Given the description of an element on the screen output the (x, y) to click on. 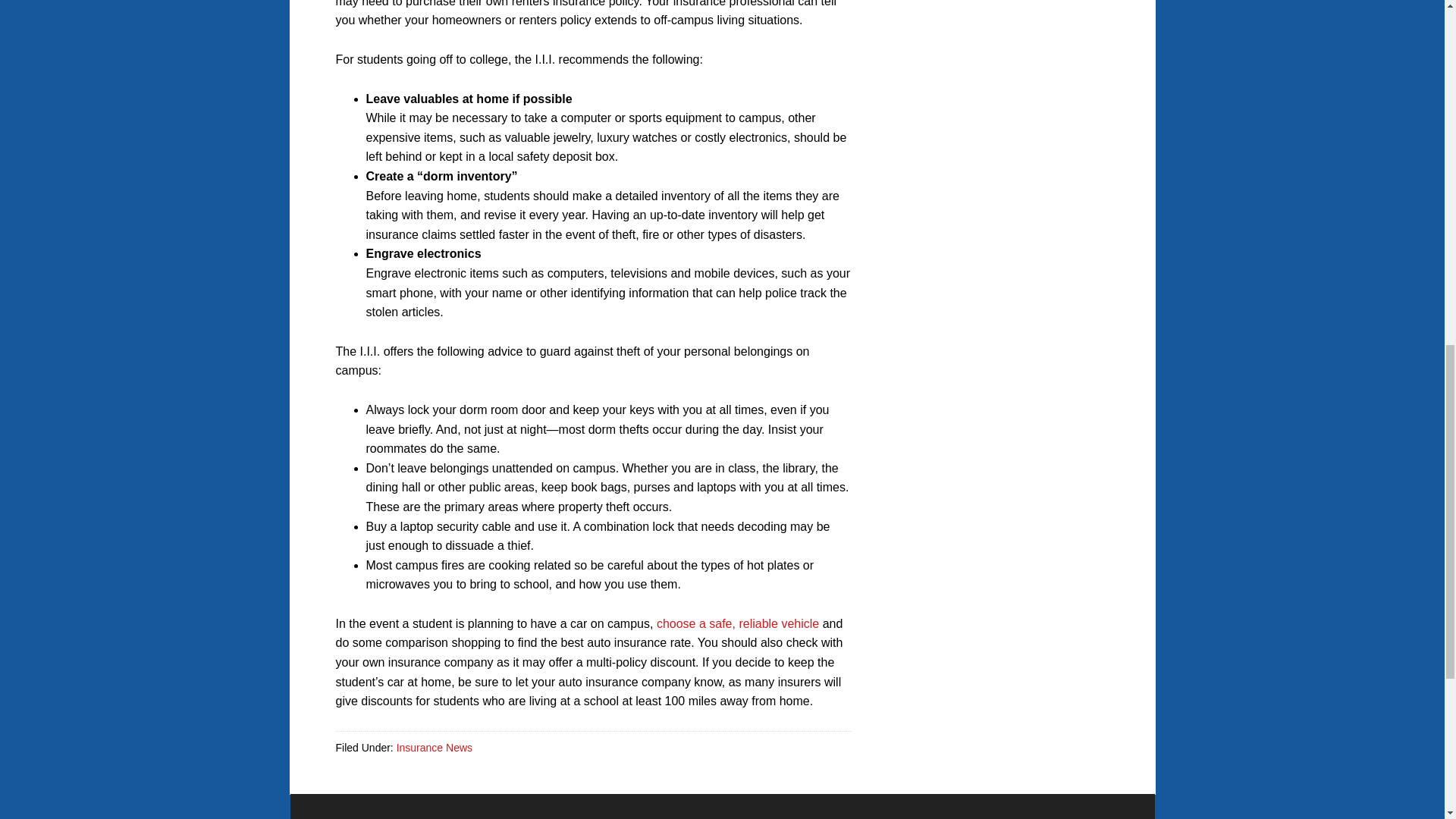
choose a safe, reliable vehicle (737, 623)
Insurance News (433, 747)
